Given the description of an element on the screen output the (x, y) to click on. 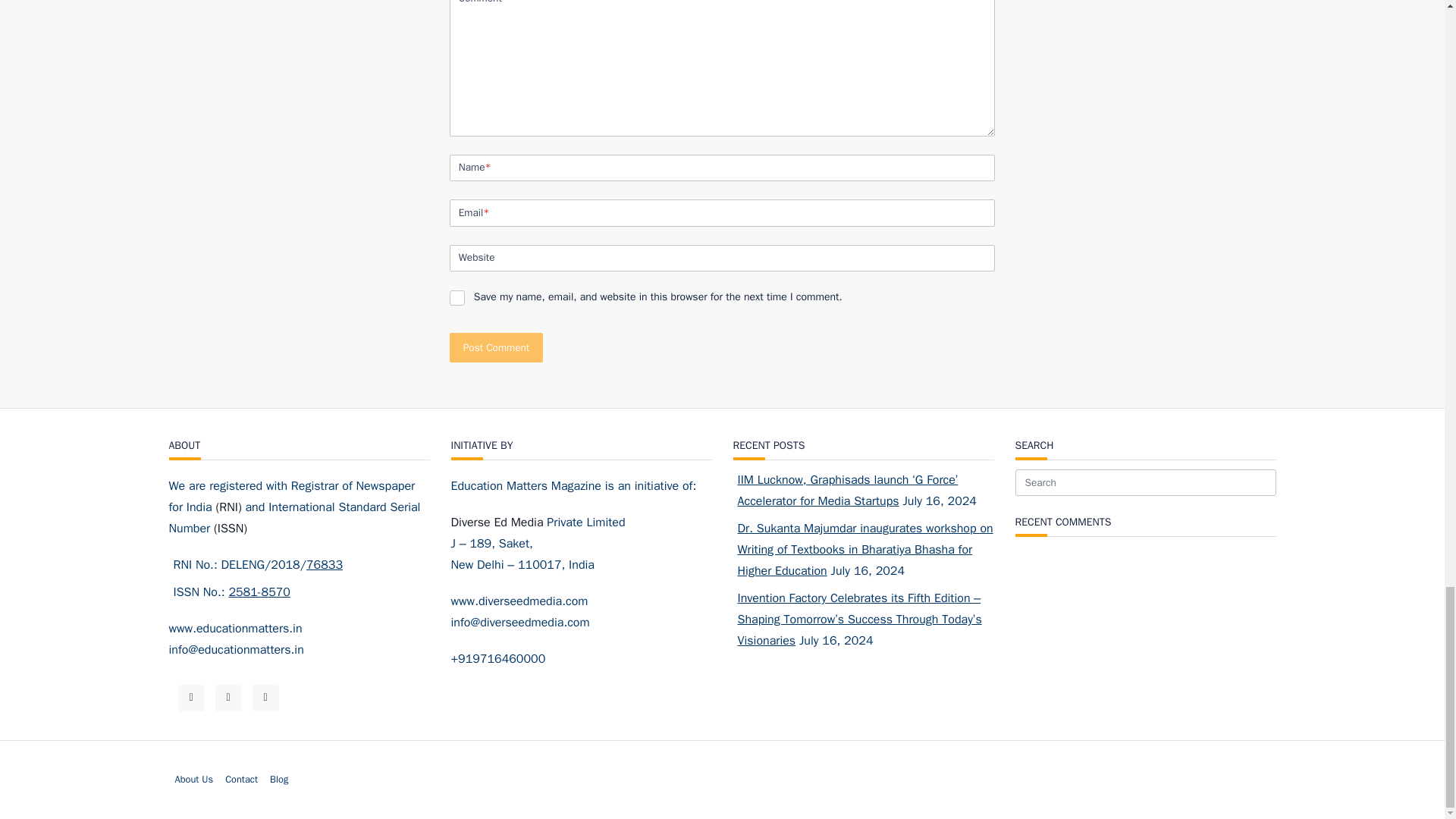
yes (456, 297)
Post Comment (496, 347)
